Given the description of an element on the screen output the (x, y) to click on. 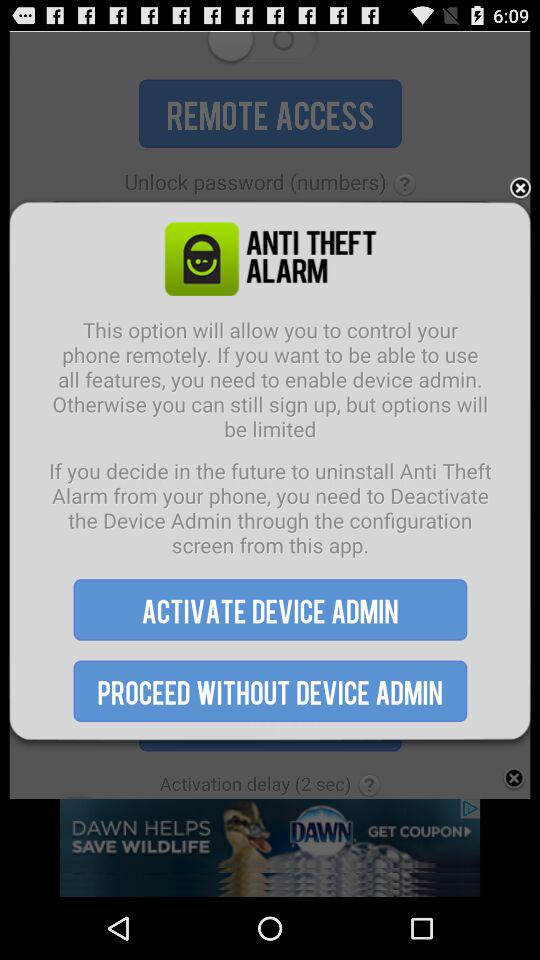
choose the item at the top right corner (520, 188)
